Given the description of an element on the screen output the (x, y) to click on. 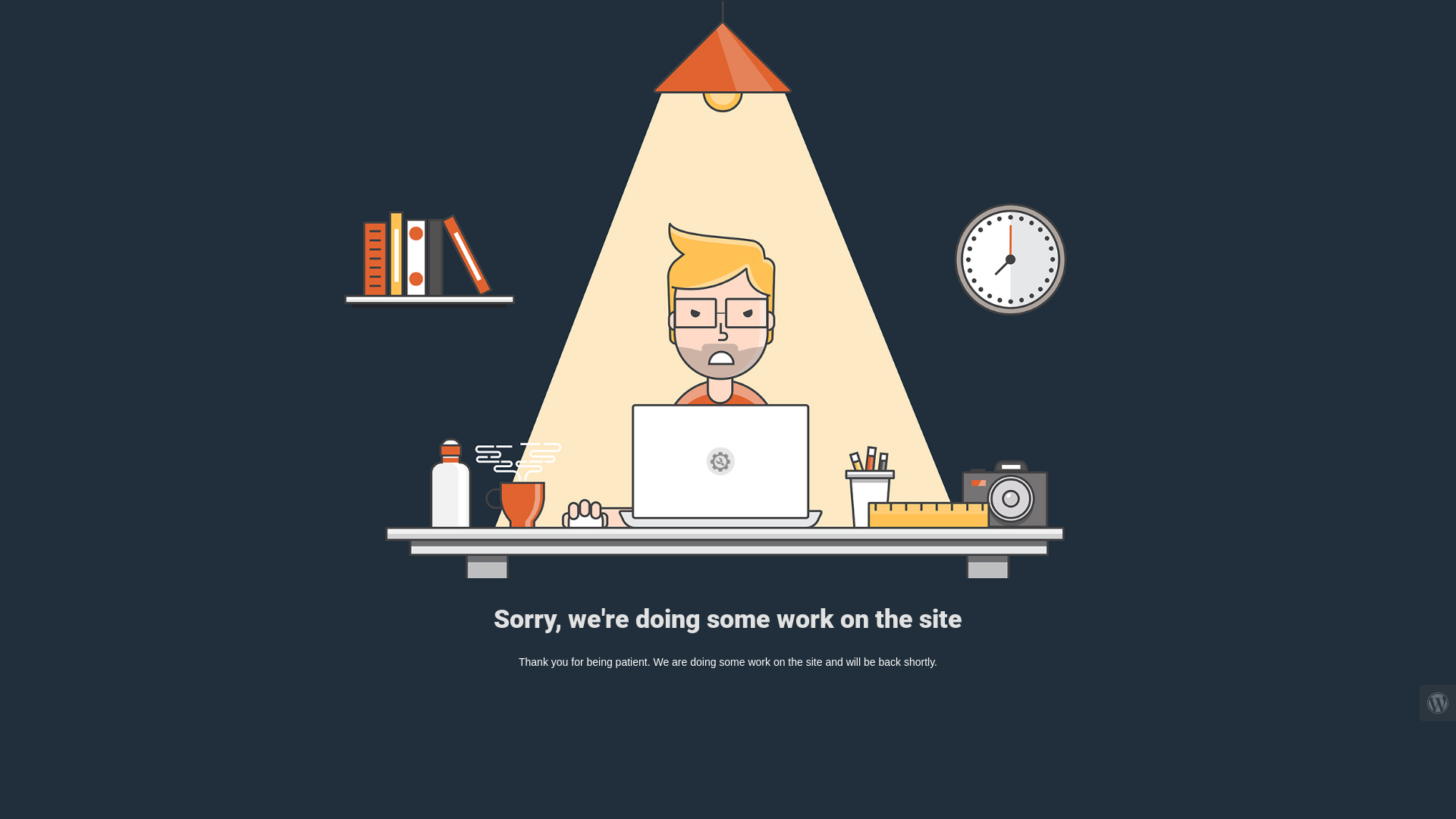
Mad Designer at work in the dark Element type: hover (727, 291)
